Given the description of an element on the screen output the (x, y) to click on. 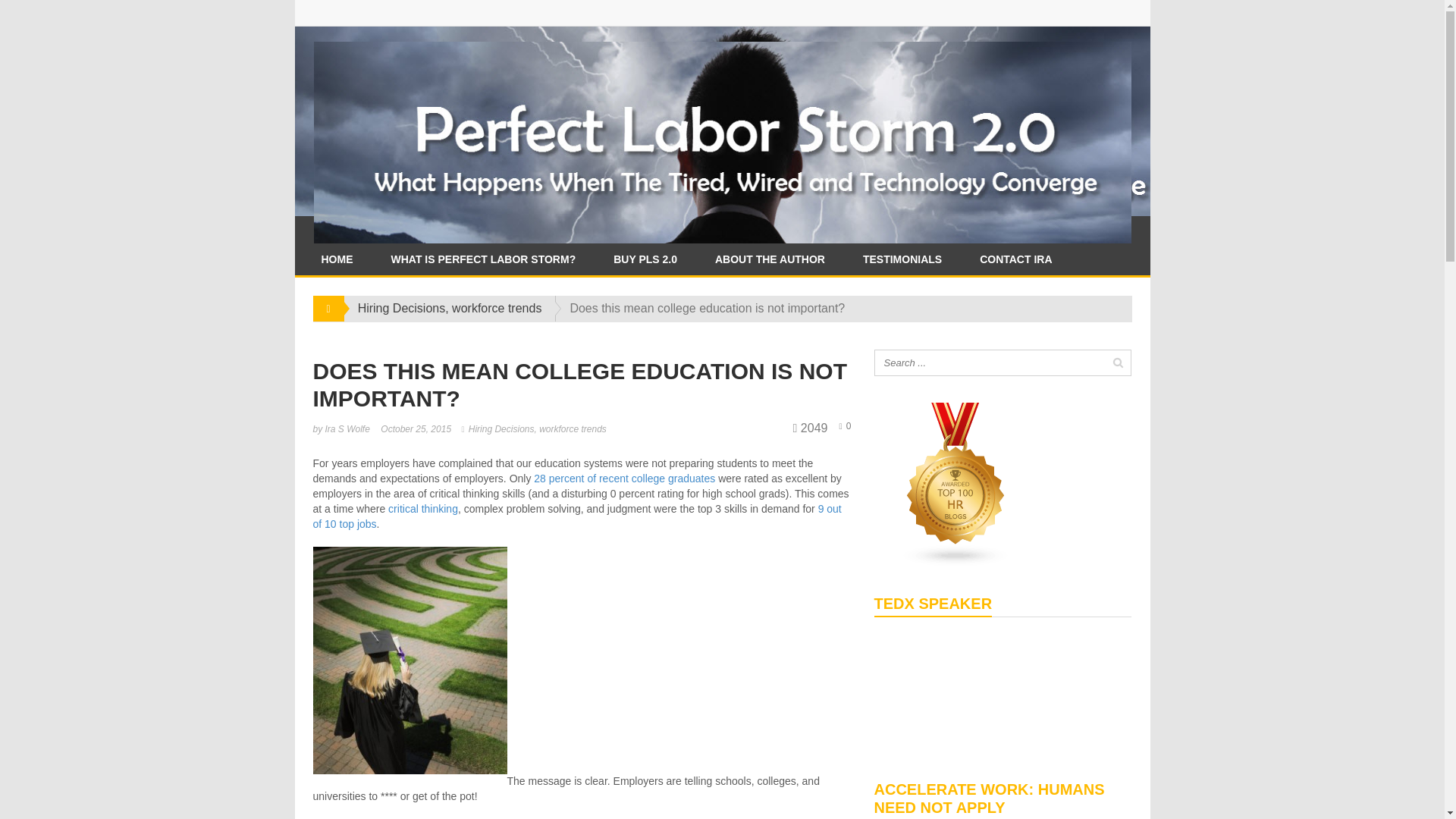
CONTACT IRA (1015, 259)
BUY PLS 2.0 (644, 259)
WHAT IS PERFECT LABOR STORM? (482, 259)
HOME (336, 259)
0 (844, 425)
HR blogs (954, 482)
Search (1118, 362)
Hiring Decisions (501, 429)
Ira S Wolfe (346, 429)
workforce trends (496, 308)
